Given the description of an element on the screen output the (x, y) to click on. 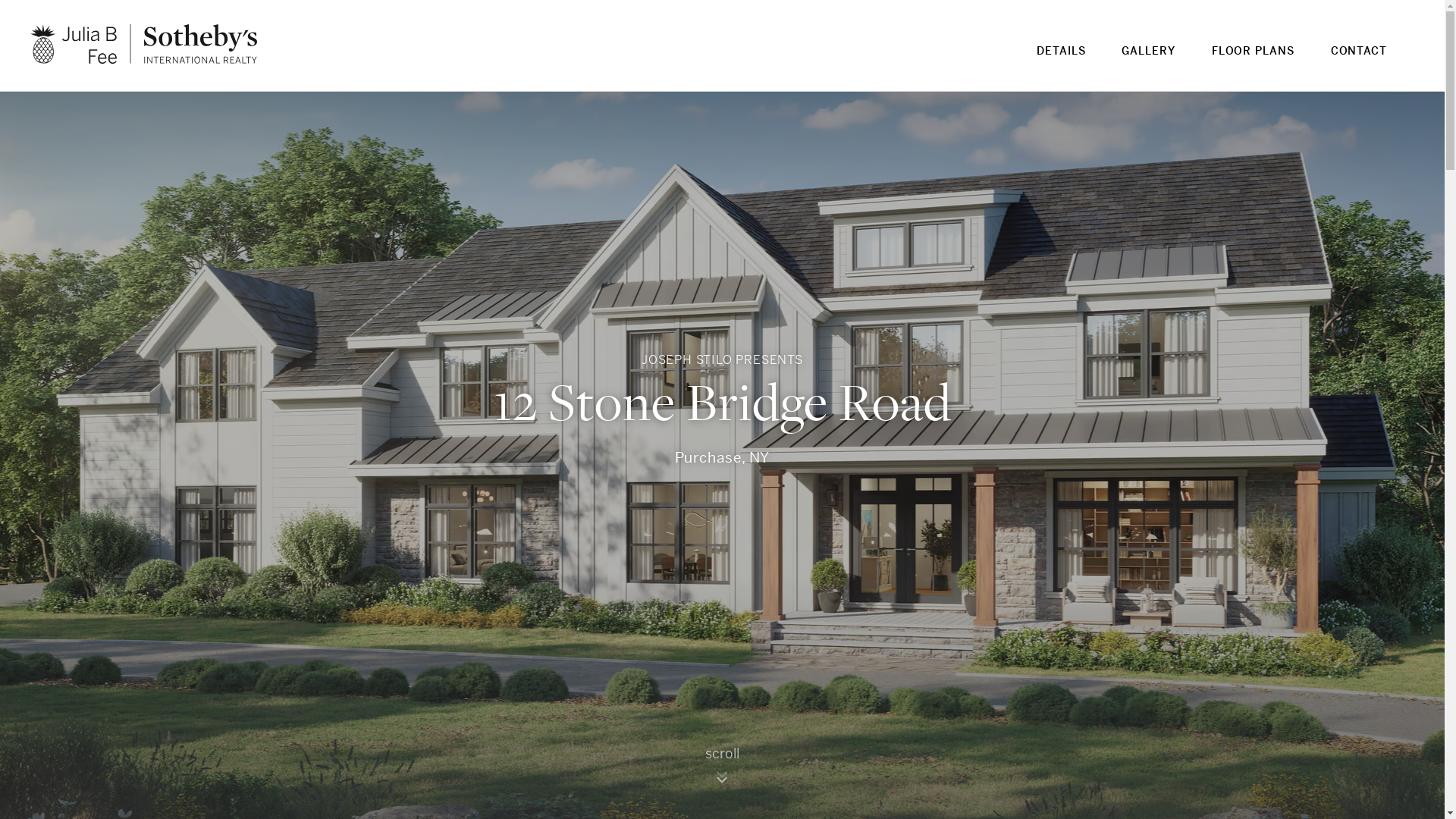
DETAILS Element type: text (1060, 60)
FLOOR PLANS Element type: text (1252, 60)
GALLERY Element type: text (1147, 60)
CONTACT Element type: text (1358, 60)
scroll Element type: text (722, 769)
Julia B. Fee SIR Element type: hover (143, 43)
